Given the description of an element on the screen output the (x, y) to click on. 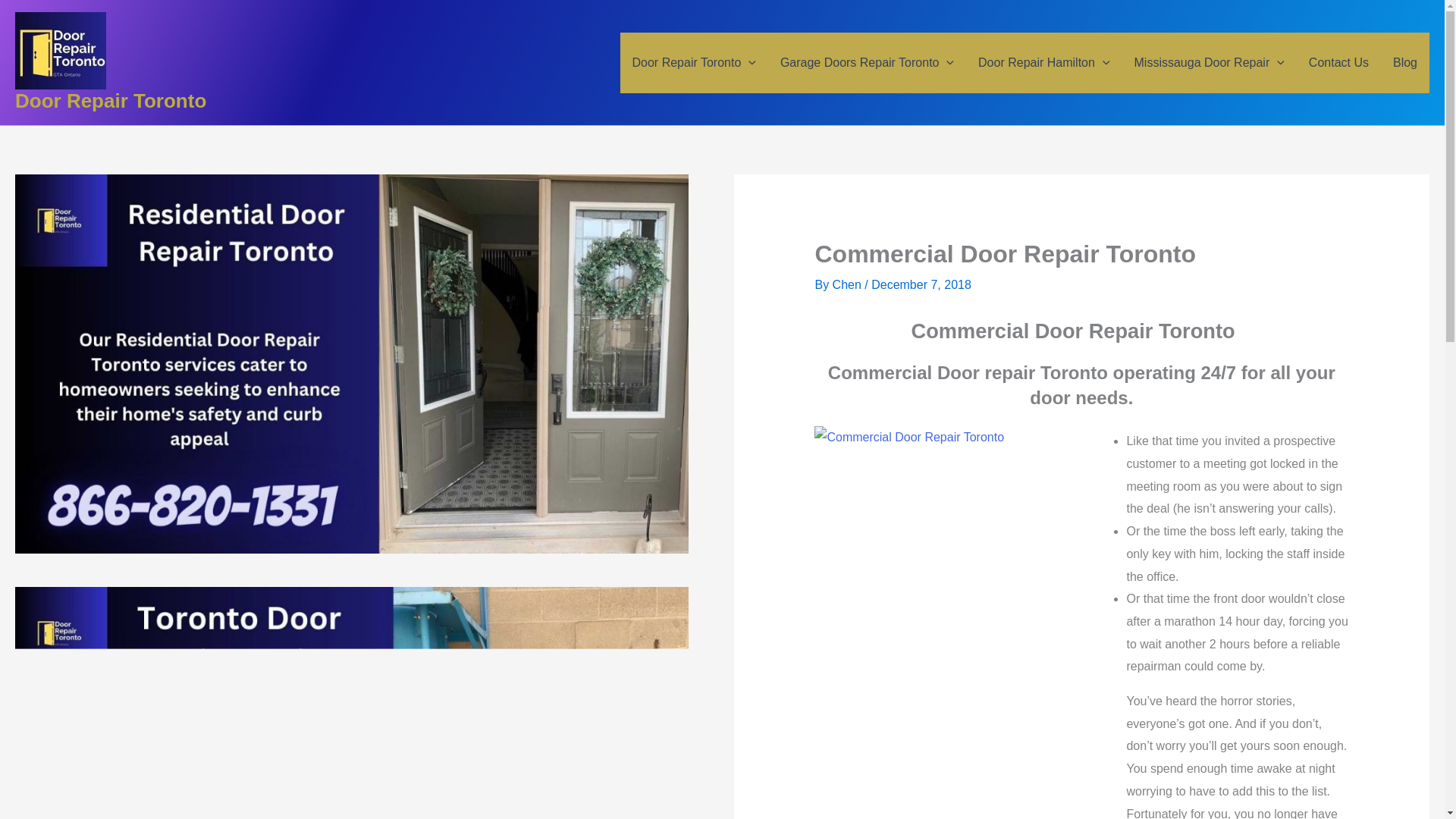
Door Repair Toronto (694, 62)
Door Repair Toronto (110, 100)
View all posts by Chen (848, 284)
Garage Doors Repair Toronto (867, 62)
